Given the description of an element on the screen output the (x, y) to click on. 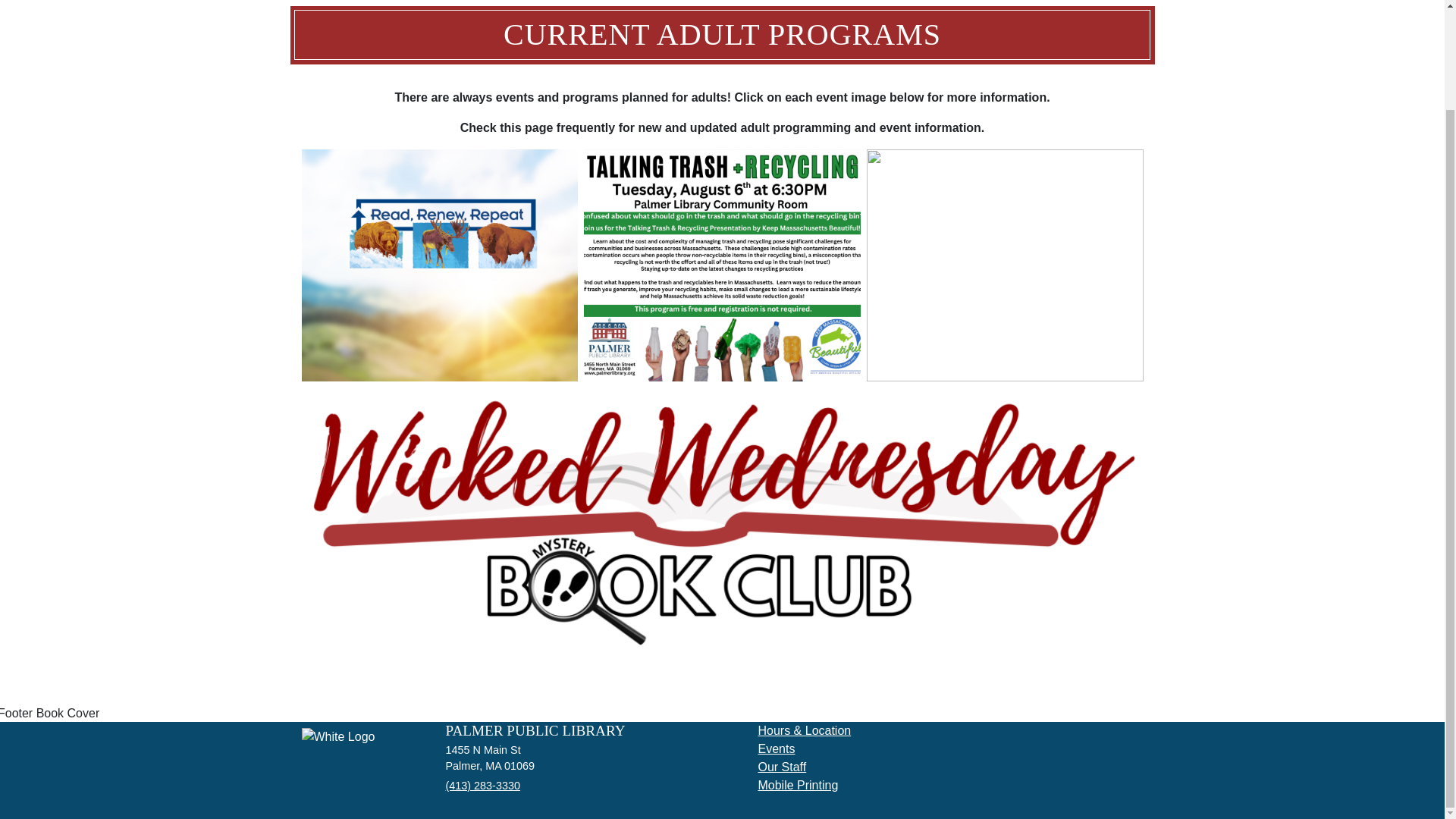
Home (338, 742)
